Given the description of an element on the screen output the (x, y) to click on. 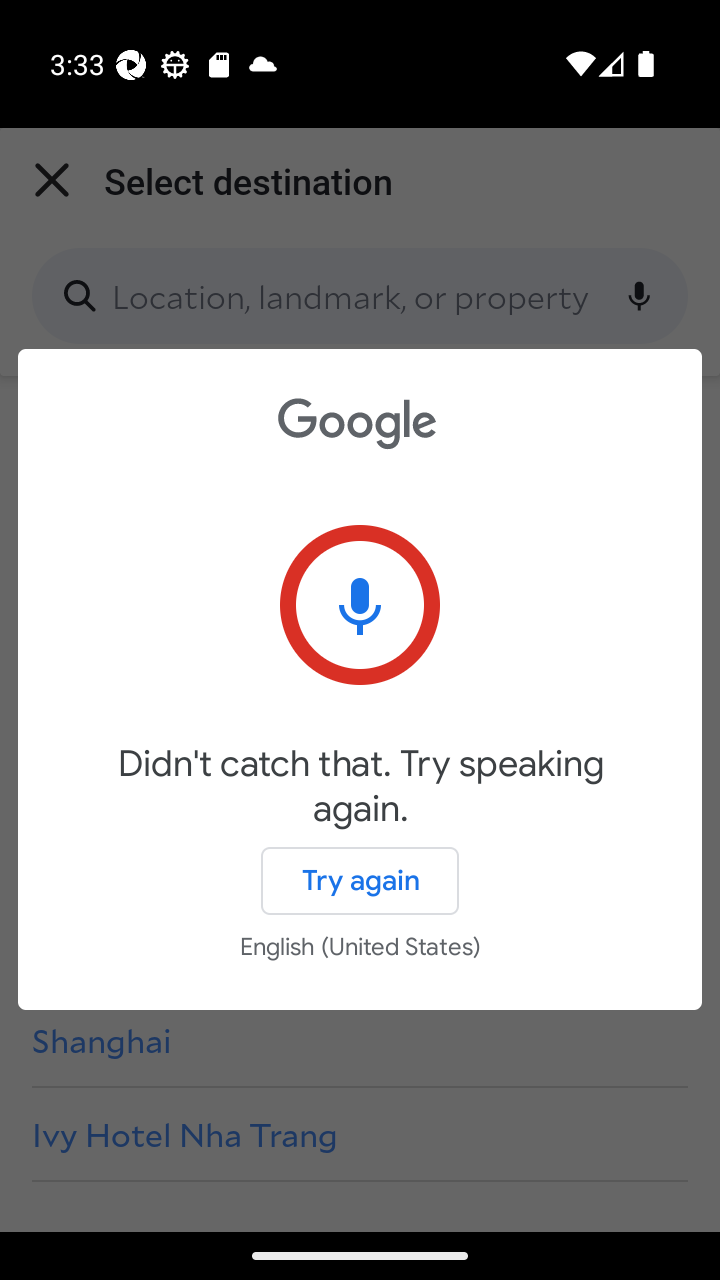
Tap to try again (359, 604)
Try again (359, 880)
